Given the description of an element on the screen output the (x, y) to click on. 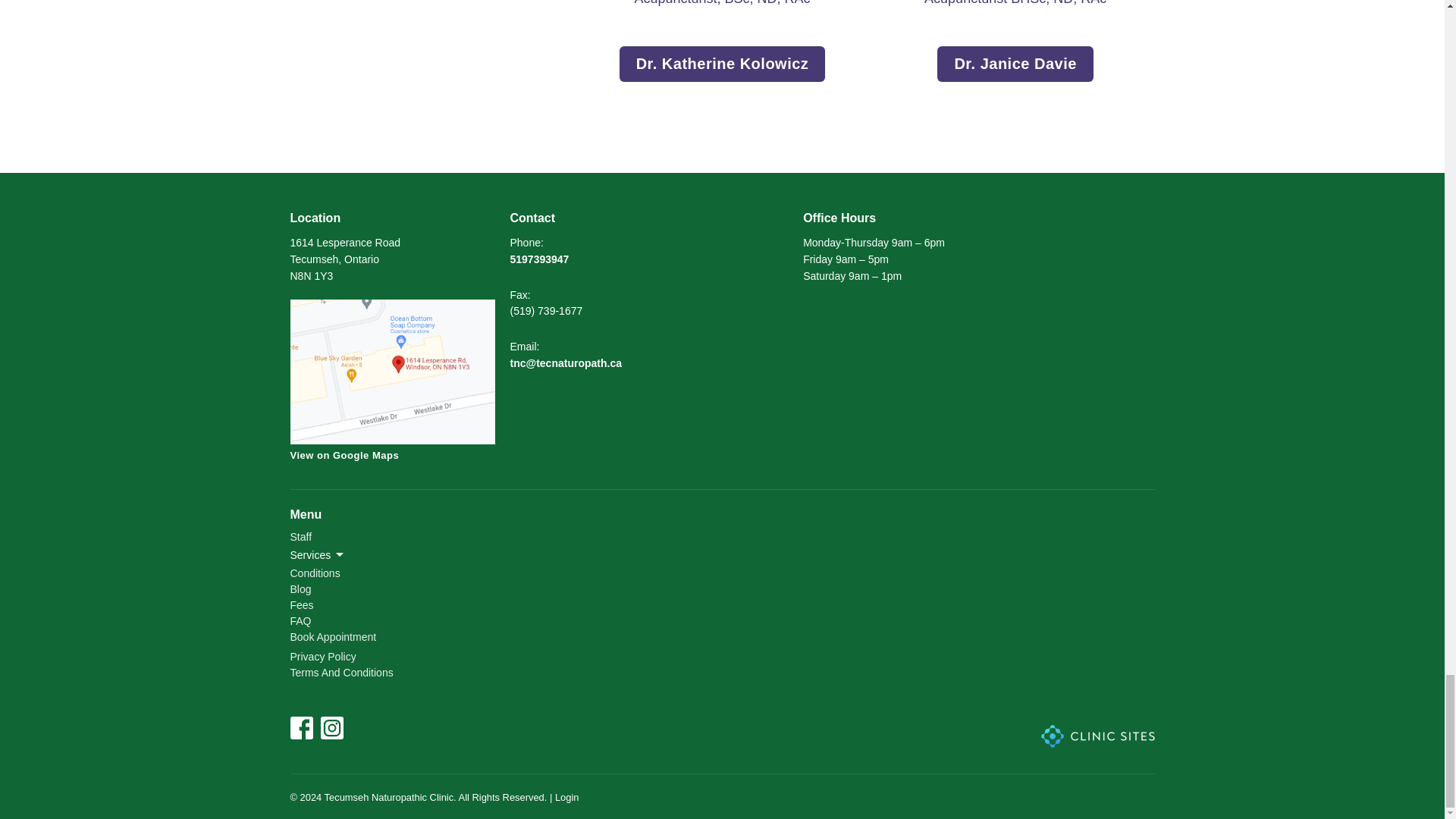
Dr. Janice Davie (1015, 63)
Terms And Conditions (341, 672)
5197393947 (539, 259)
Book Appointment (332, 636)
Dr. Katherine Kolowicz (722, 63)
Fees (301, 604)
Conditions (314, 573)
View on Google Maps (392, 411)
